Given the description of an element on the screen output the (x, y) to click on. 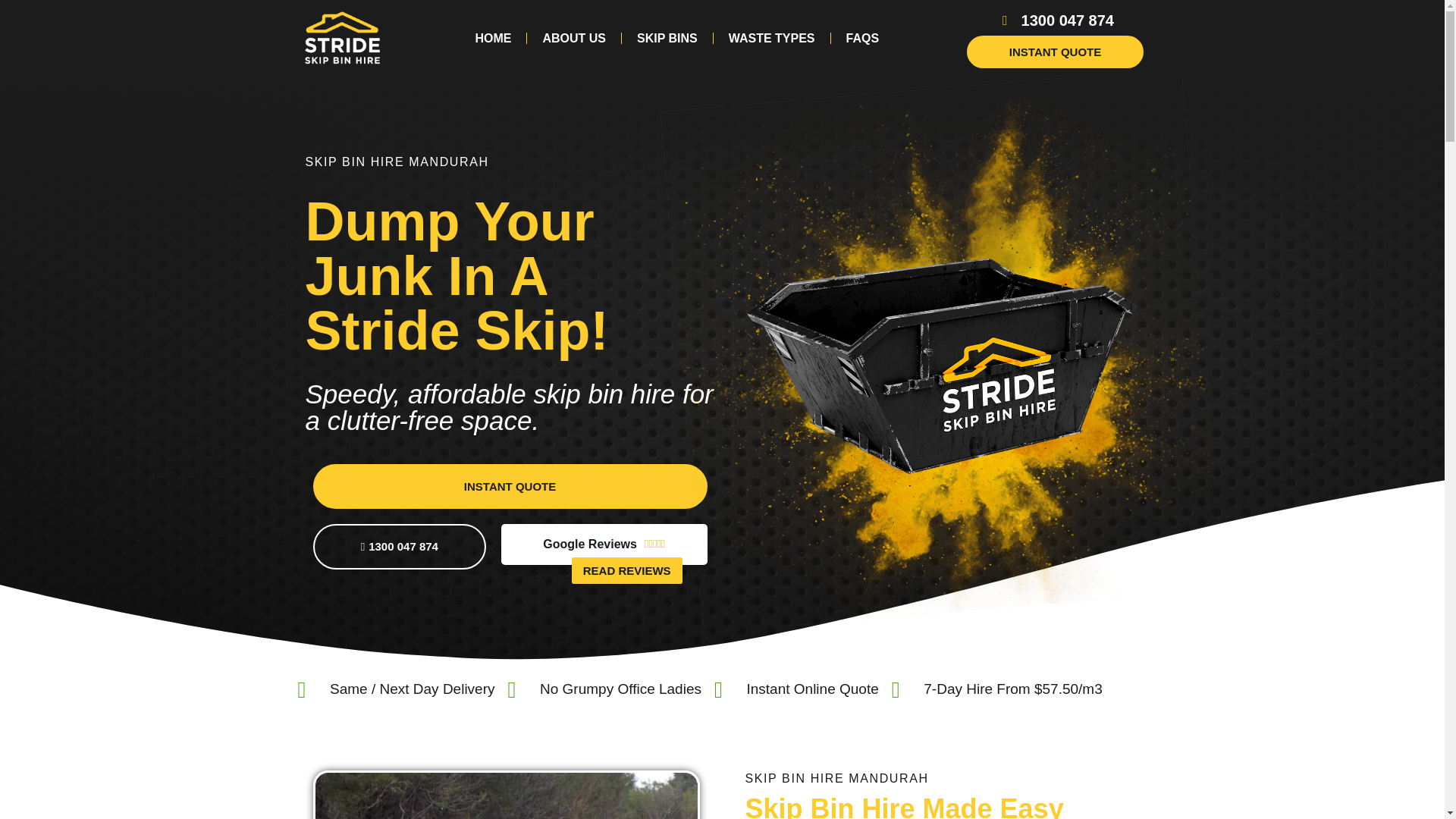
HOME (492, 38)
1300 047 874 (399, 546)
FAQS (863, 38)
ABOUT US (574, 38)
INSTANT QUOTE (1054, 51)
SKIP BINS (667, 38)
WASTE TYPES (771, 38)
INSTANT QUOTE (509, 486)
1300 047 874 (1054, 20)
READ REVIEWS (627, 570)
